Given the description of an element on the screen output the (x, y) to click on. 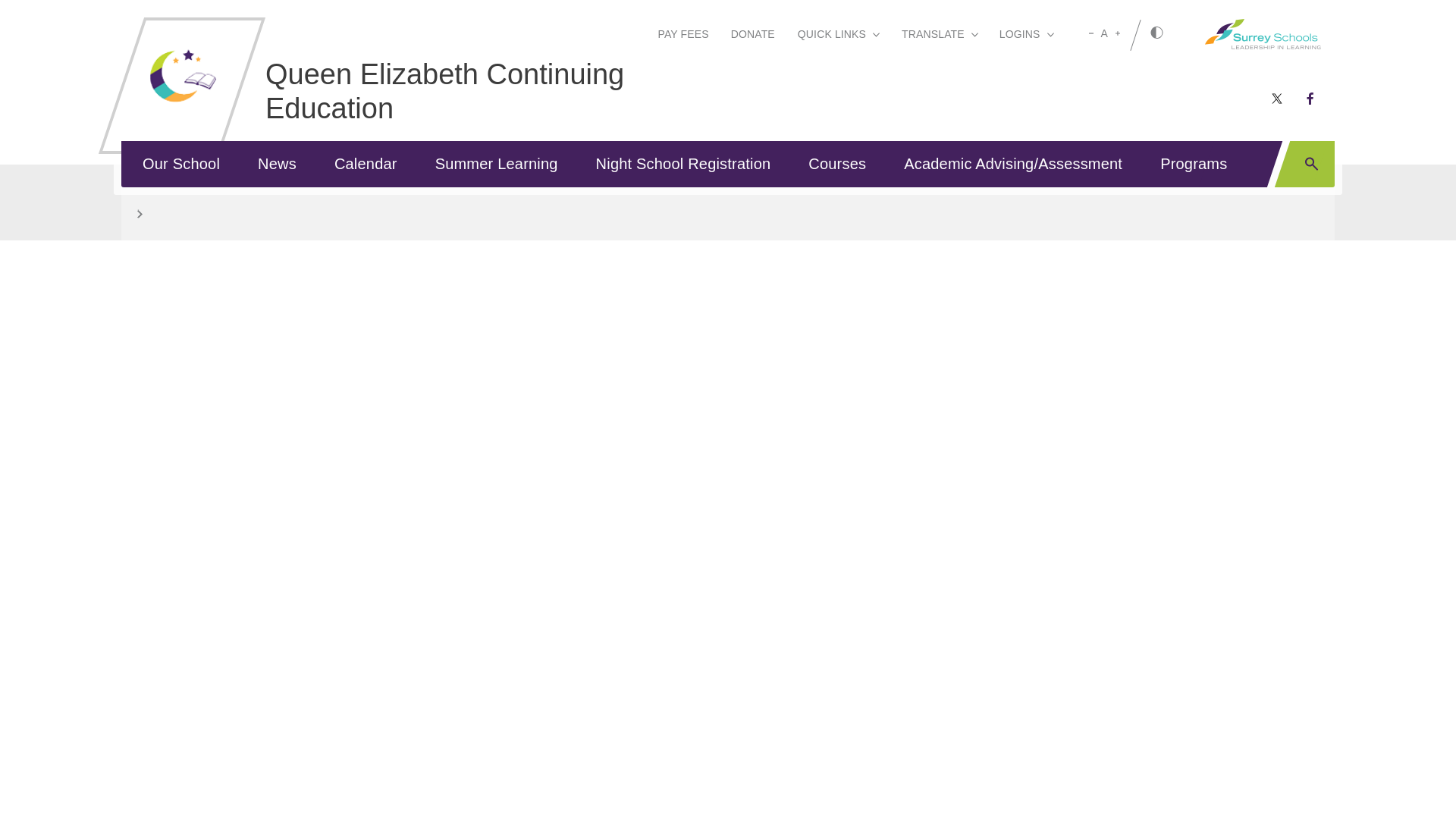
QUICK LINKS (837, 35)
PAY FEES (682, 35)
TRANSLATE (939, 35)
DONATE (752, 35)
